Given the description of an element on the screen output the (x, y) to click on. 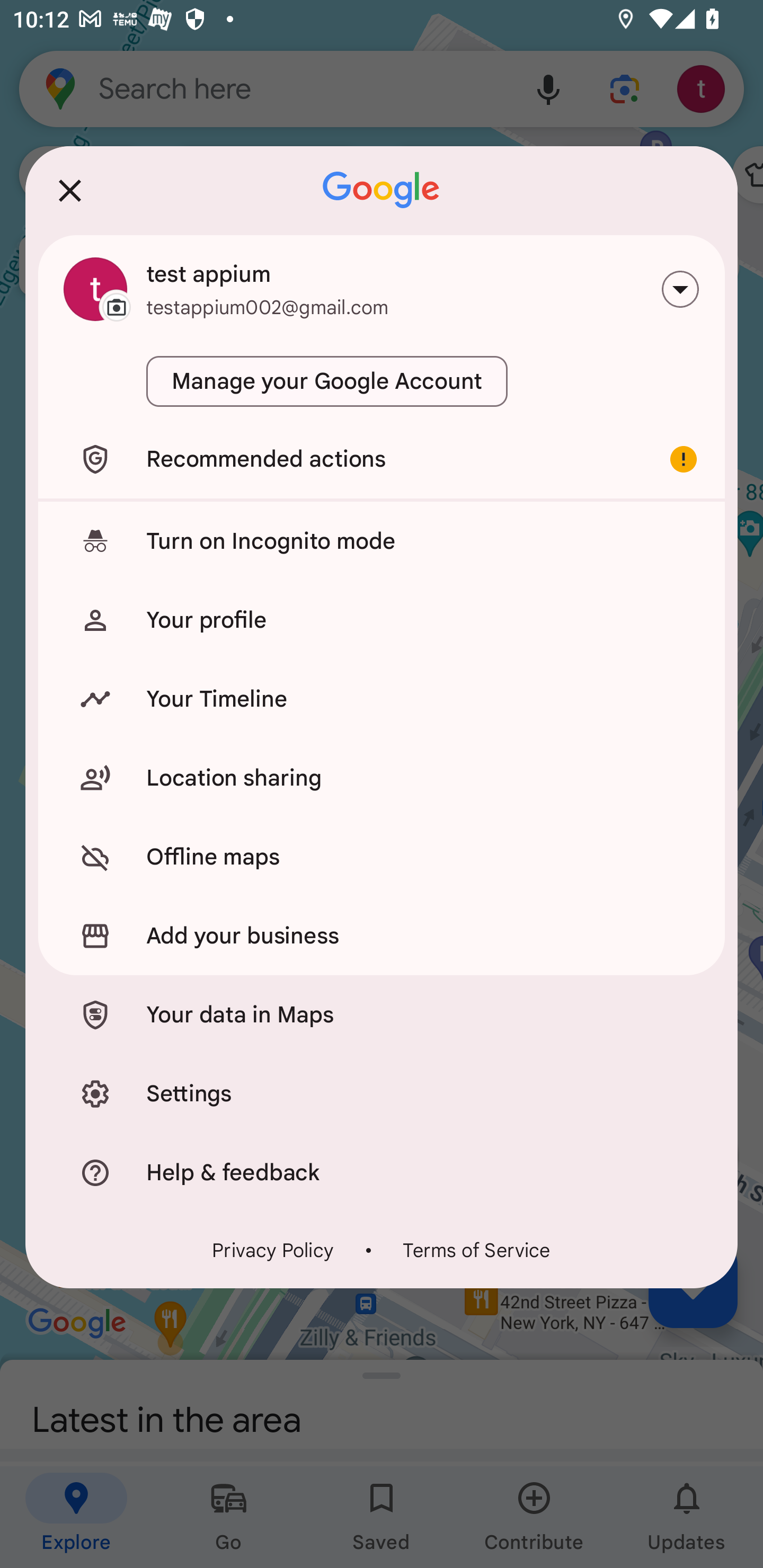
Close (69, 190)
Change profile picture. (95, 288)
Manage your Google Account (326, 381)
Recommended actions Important account alert (381, 459)
Turn on Incognito mode (381, 540)
Your profile (381, 620)
Your Timeline (381, 699)
Location sharing (381, 777)
Offline maps (381, 856)
Add your business (381, 935)
Your data in Maps (381, 1014)
Settings (381, 1093)
Help & feedback (381, 1172)
Privacy Policy (273, 1250)
Terms of Service (476, 1250)
